Given the description of an element on the screen output the (x, y) to click on. 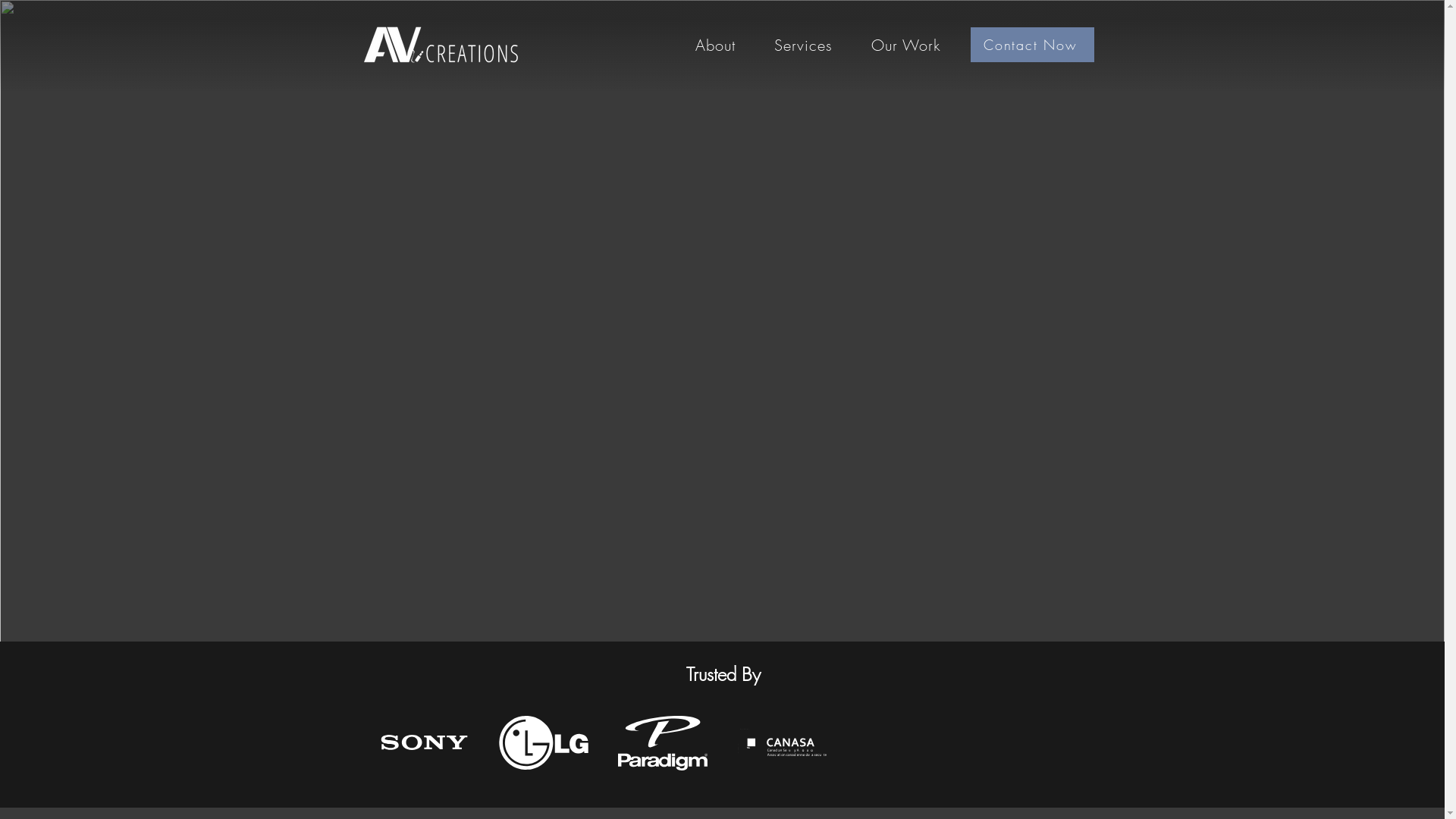
Contact Now Element type: text (1032, 44)
Our Work Element type: text (906, 44)
Services Element type: text (803, 44)
About Element type: text (715, 44)
